Given the description of an element on the screen output the (x, y) to click on. 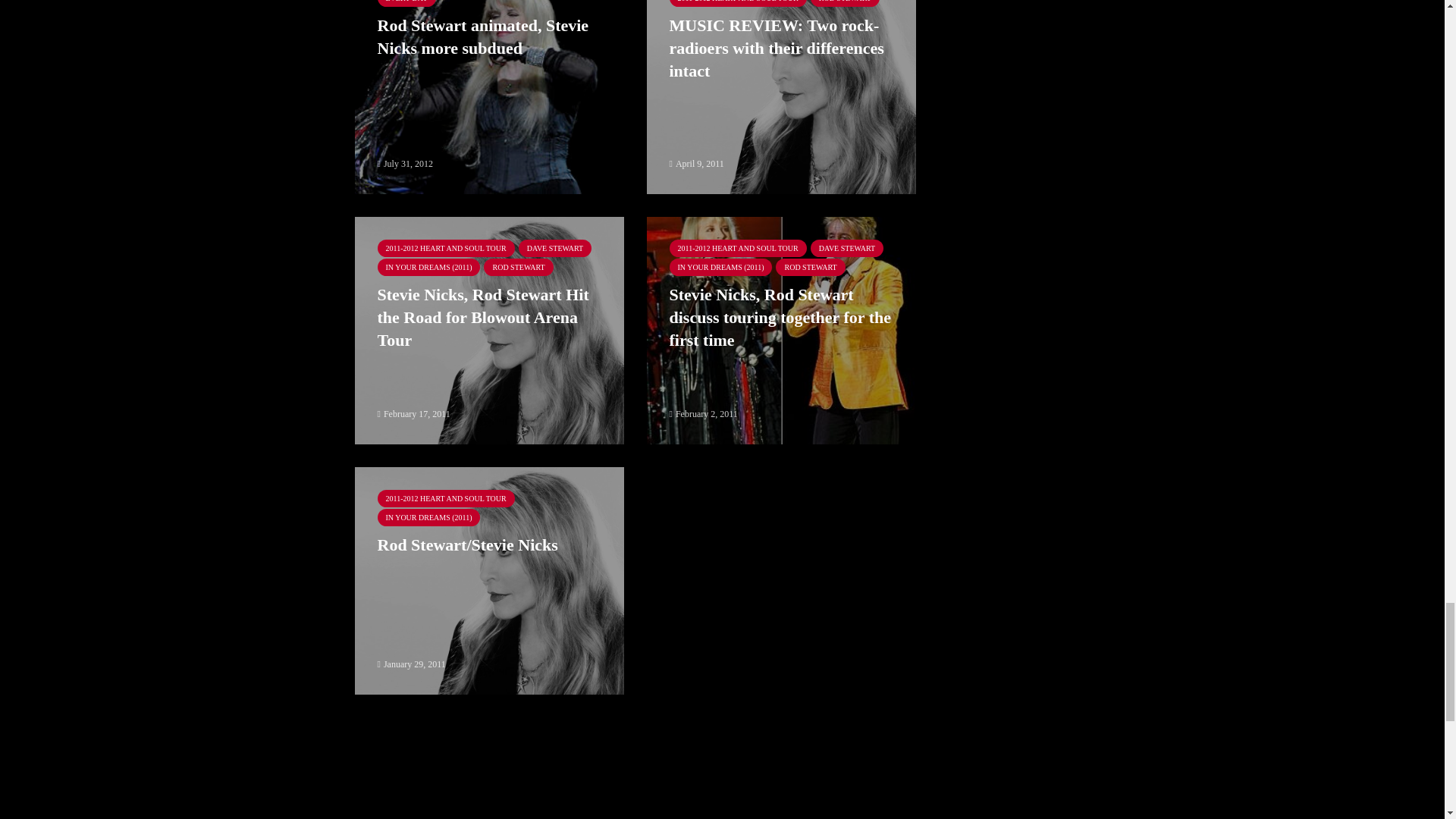
Rod Stewart animated, Stevie Nicks more subdued (489, 36)
ROD STEWART (844, 3)
ROD STEWART (810, 267)
DAVE STEWART (555, 248)
2011-2012 HEART AND SOUL TOUR (737, 3)
Rod Stewart animated, Stevie Nicks more subdued (489, 78)
2011-2012 HEART AND SOUL TOUR (446, 248)
2011-2012 HEART AND SOUL TOUR (737, 248)
EVERY DAY (406, 3)
ROD STEWART (518, 267)
